Given the description of an element on the screen output the (x, y) to click on. 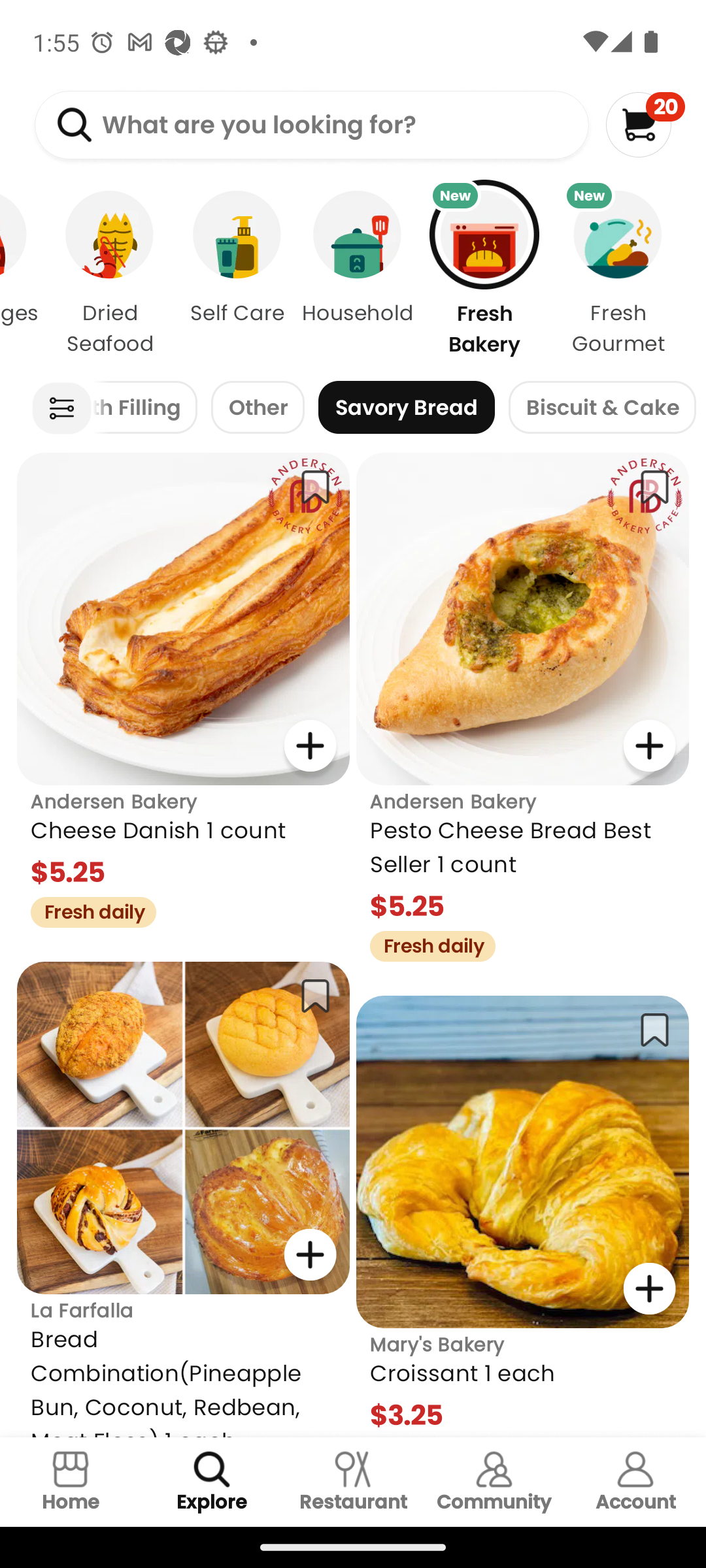
What are you looking for? (311, 124)
20 (644, 124)
Dried Seafood (110, 273)
Self Care (237, 273)
Household (357, 273)
New Fresh Bakery (484, 273)
New Fresh Gourmet (628, 273)
With Filling (144, 407)
Other (257, 407)
Savory Bread (406, 407)
Biscuit & Cake (602, 407)
Fresh daily (86, 910)
Fresh daily (425, 943)
Mary's Bakery Croissant 1 each $3.25 (522, 1216)
Home (70, 1482)
Explore (211, 1482)
Restaurant (352, 1482)
Community (493, 1482)
Account (635, 1482)
